Given the description of an element on the screen output the (x, y) to click on. 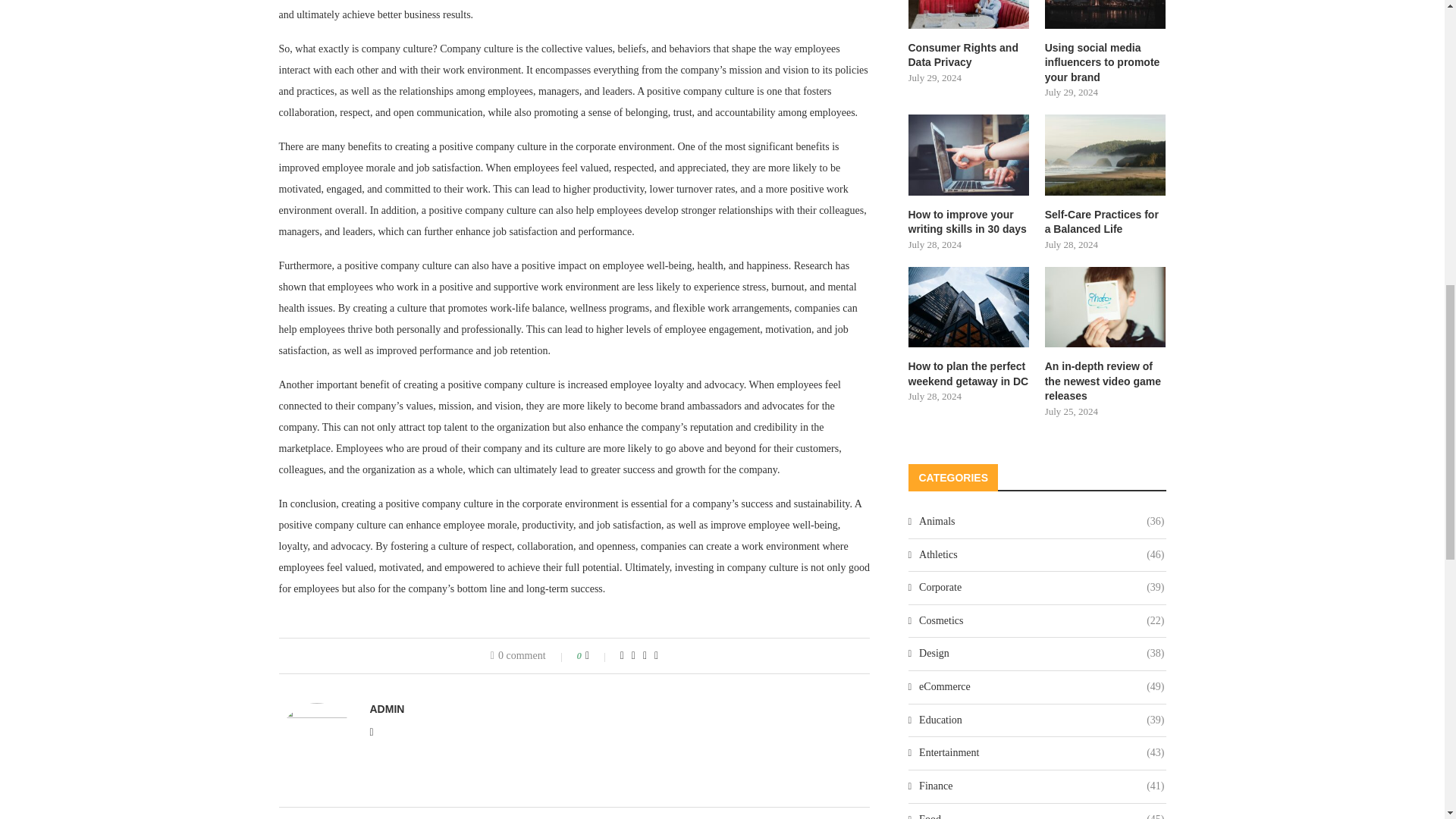
Like (597, 655)
Author admin (386, 708)
